Given the description of an element on the screen output the (x, y) to click on. 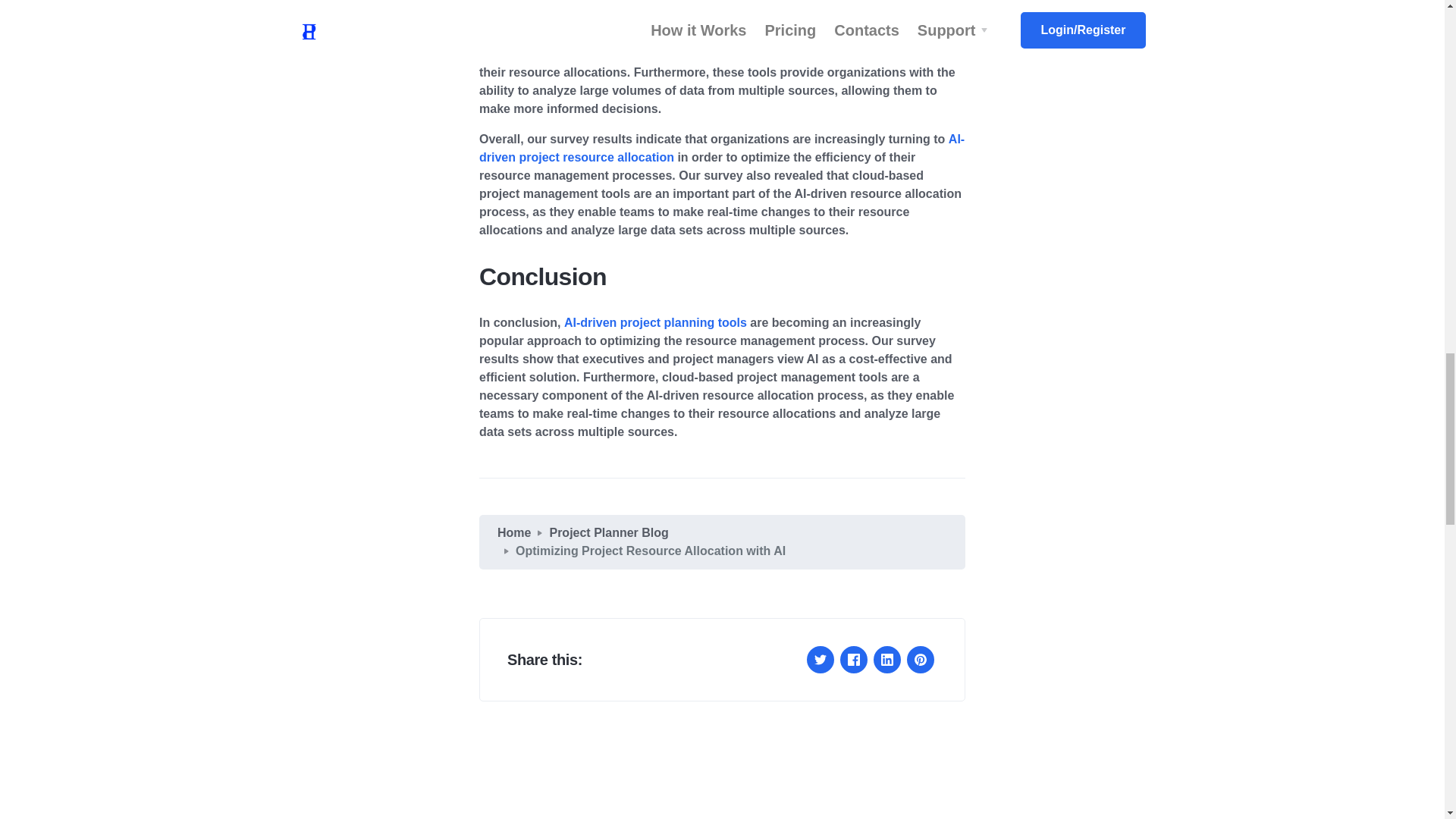
AI-driven project resource allocation (721, 147)
Home (514, 532)
Project Planner Blog (608, 533)
AI-driven project planning tools (655, 322)
